Given the description of an element on the screen output the (x, y) to click on. 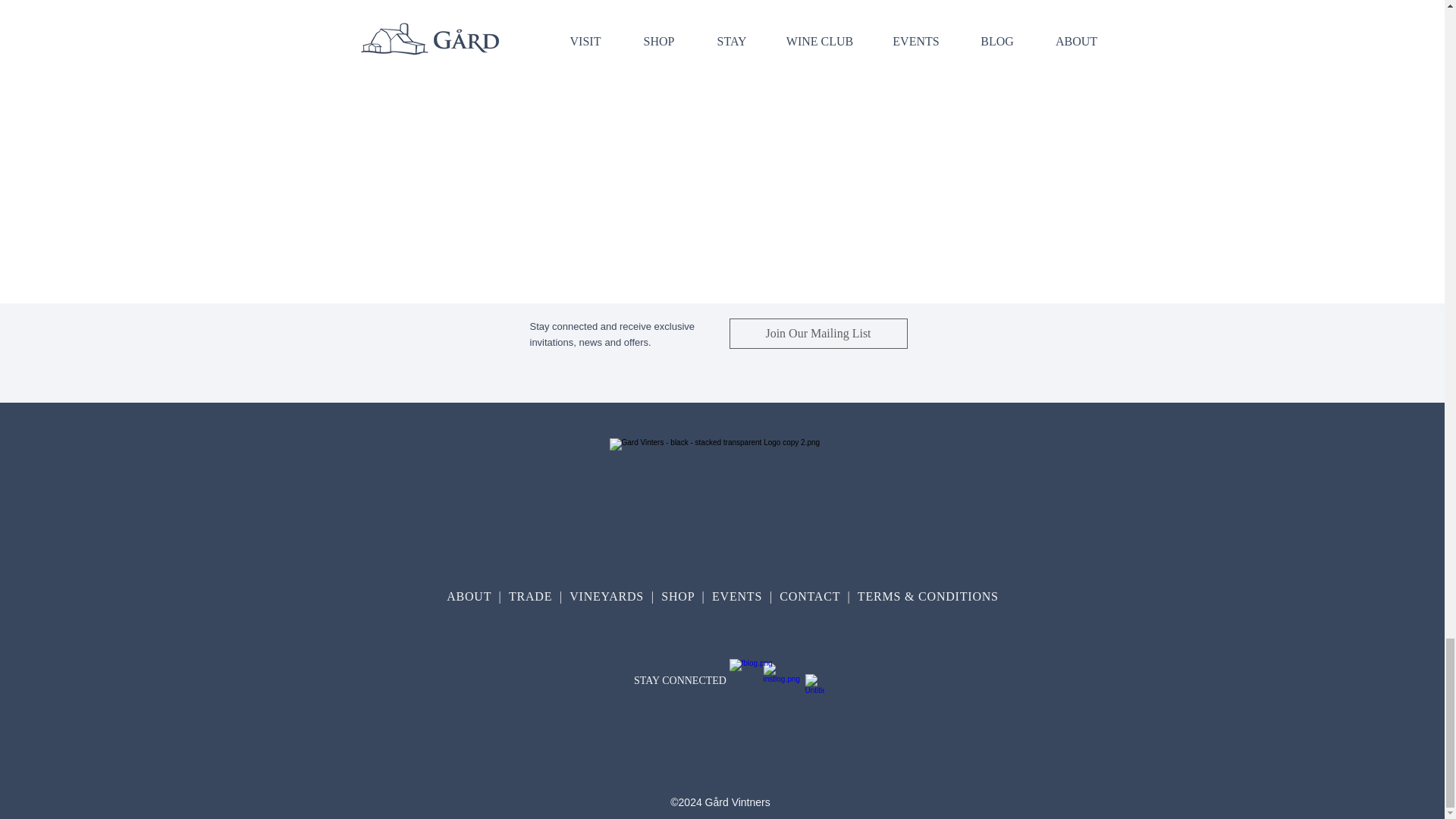
Join Our Mailing List (818, 333)
TRADE (532, 595)
EVENTS (736, 595)
CONTACT (810, 595)
SHOP   (681, 595)
